Given the description of an element on the screen output the (x, y) to click on. 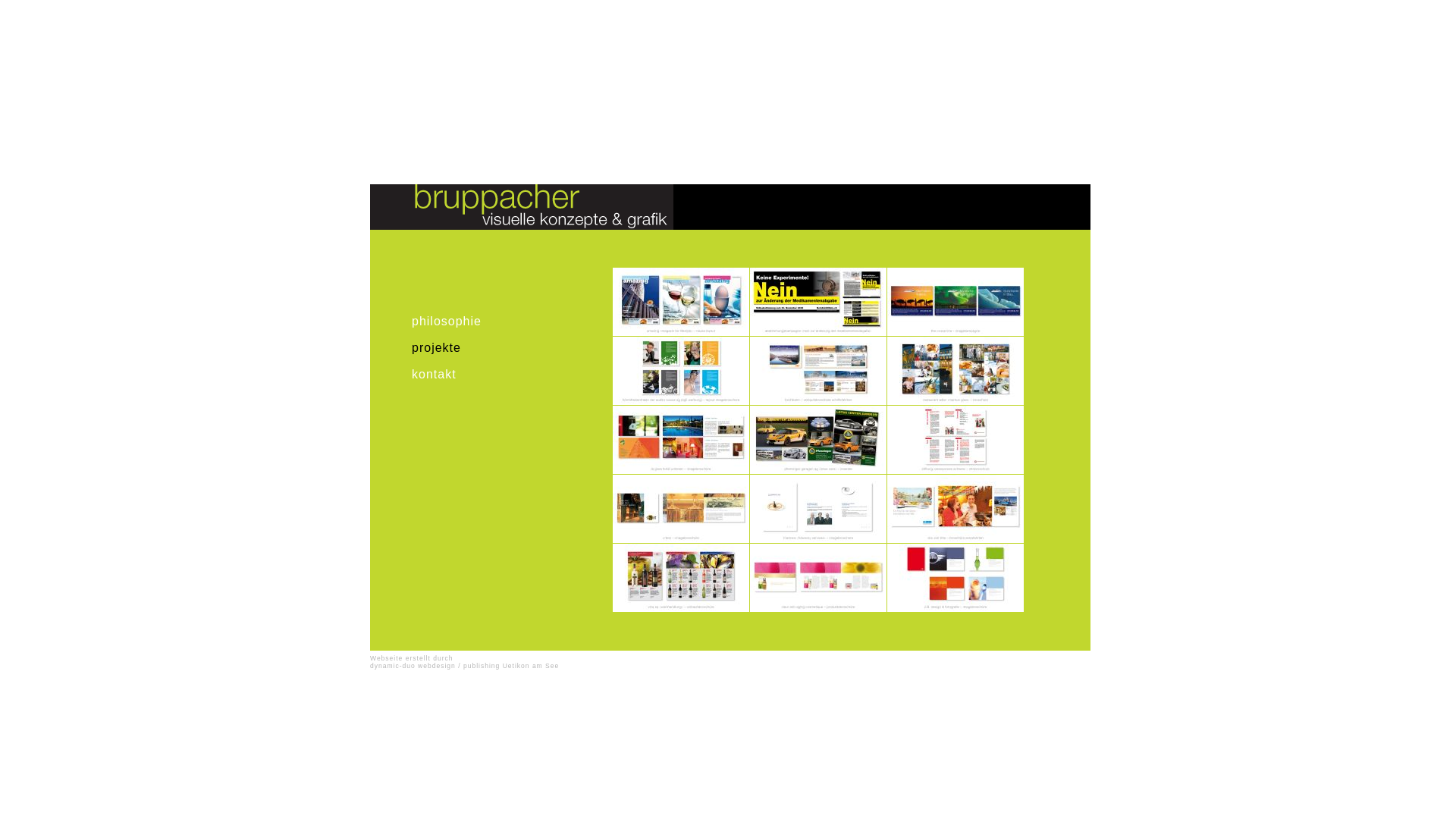
You are viewing the image with filename apotheker.jpg Element type: hover (817, 301)
You are viewing the image with filename gioia.jpg Element type: hover (680, 439)
You are viewing the image with filename lotus.jpg Element type: hover (817, 439)
You are viewing the image with filename sbier.jpg Element type: hover (680, 508)
philosophie Element type: text (506, 320)
You are viewing the image with filename vbz.jpg Element type: hover (955, 508)
projekte Element type: text (506, 347)
You are viewing the image with filename vina.jpg Element type: hover (680, 577)
You are viewing the image with filename osteo.jpg Element type: hover (955, 439)
You are viewing the image with filename gass.jpg Element type: hover (955, 370)
You are viewing the image with filename amazing.jpg Element type: hover (680, 301)
You are viewing the image with filename vleur.jpg Element type: hover (817, 577)
You are viewing the image with filename cruiseline.jpg Element type: hover (955, 301)
You are viewing the image with filename egli.jpg Element type: hover (680, 370)
You are viewing the image with filename fb.jpg Element type: hover (817, 370)
You are viewing the image with filename zb.jpg Element type: hover (955, 577)
You are viewing the image with filename triadvice.jpg Element type: hover (817, 508)
kontakt Element type: text (506, 373)
